Given the description of an element on the screen output the (x, y) to click on. 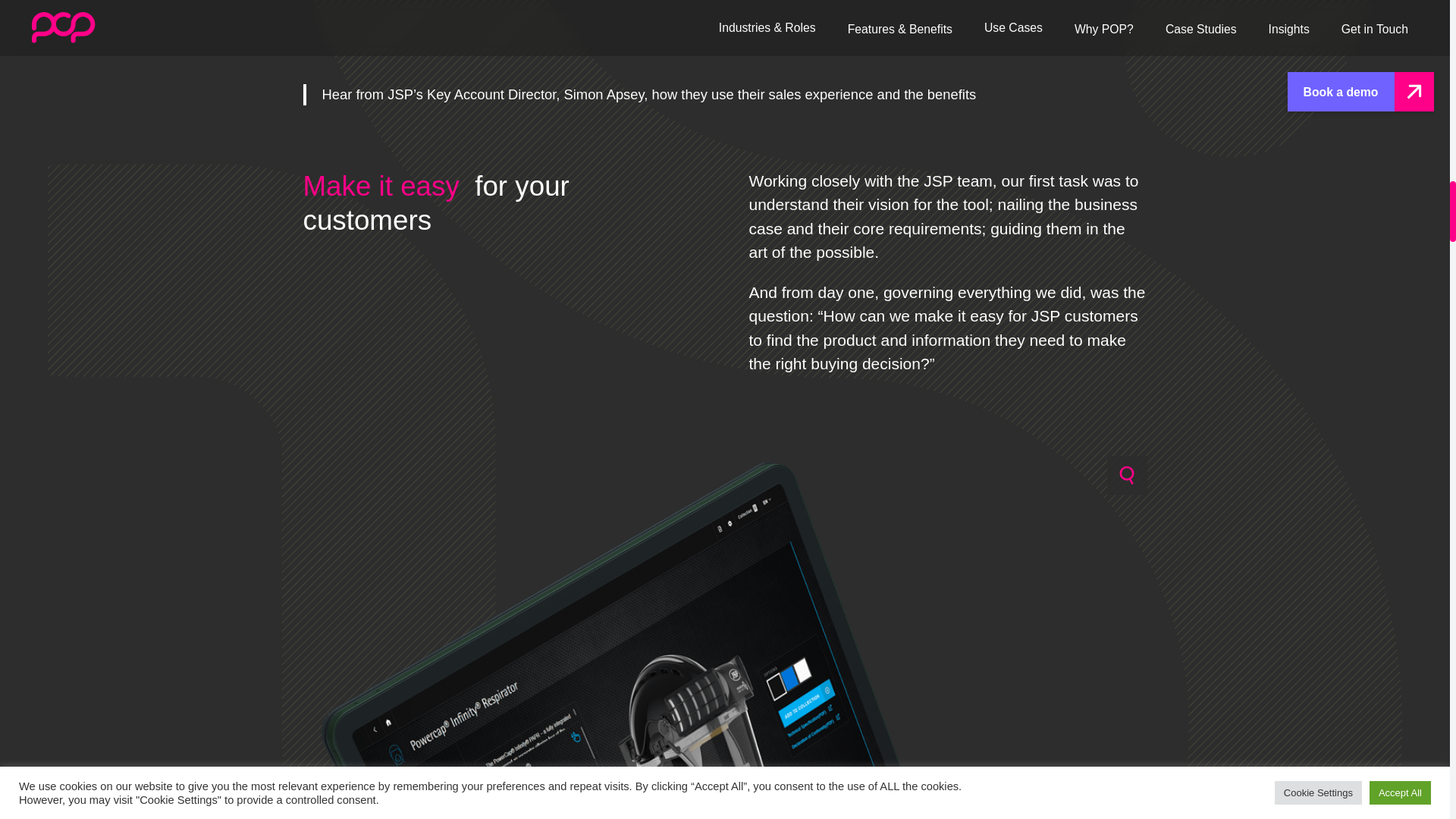
JSP benefits video (724, 35)
